Given the description of an element on the screen output the (x, y) to click on. 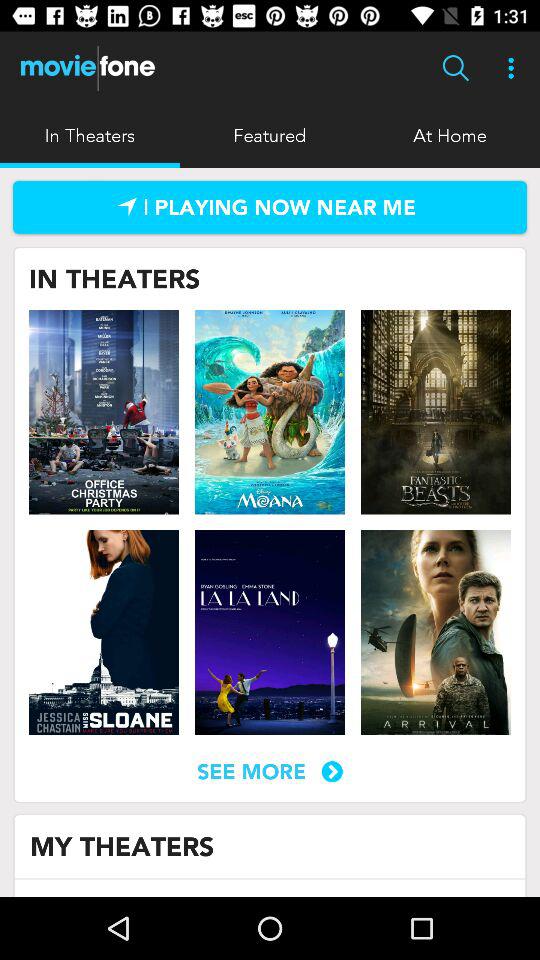
movie stills (104, 411)
